Given the description of an element on the screen output the (x, y) to click on. 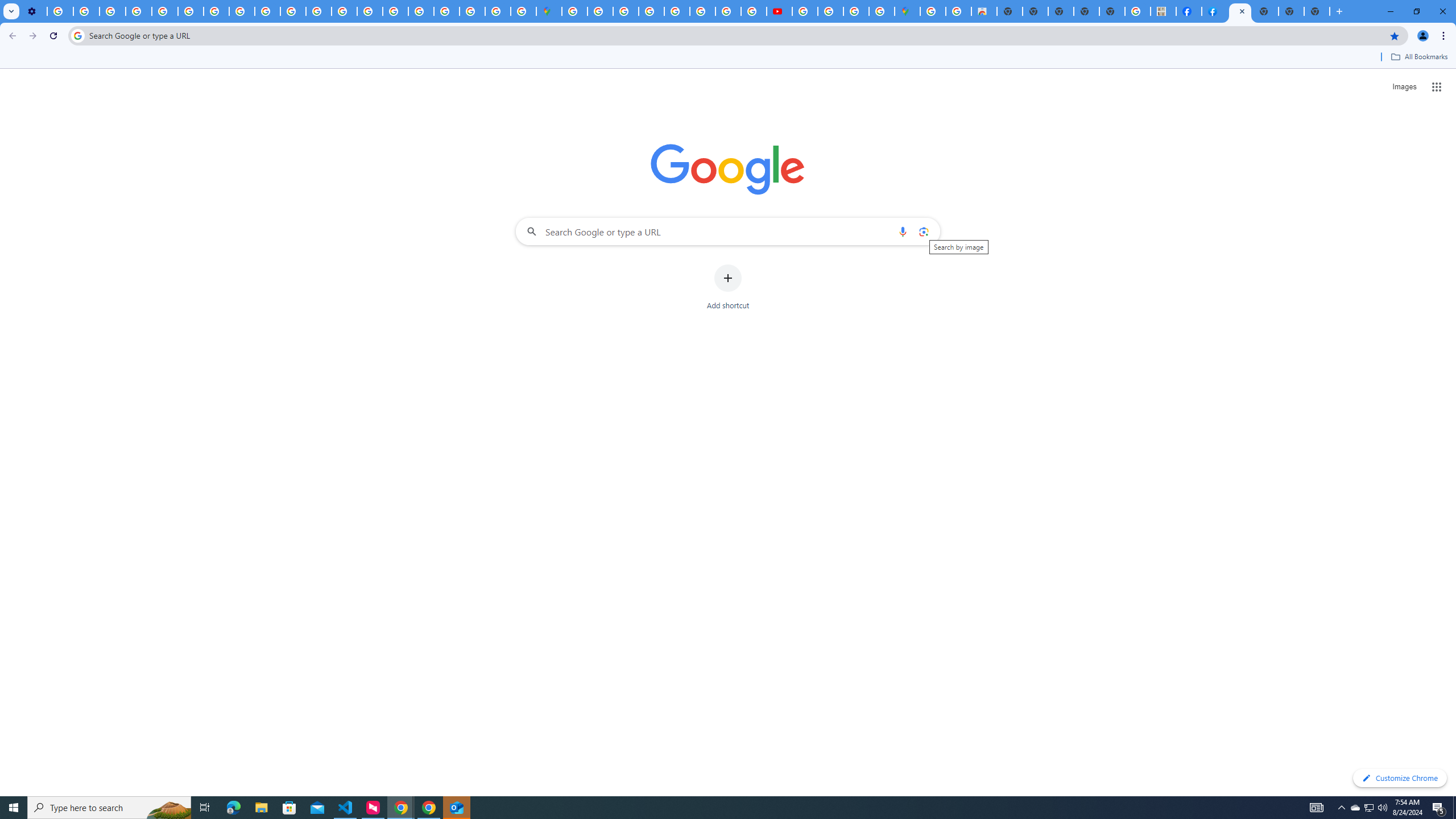
Sign in - Google Accounts (574, 11)
Miley Cyrus | Facebook (1188, 11)
Learn how to find your photos - Google Photos Help (86, 11)
New Tab (1316, 11)
Privacy Help Center - Policies Help (344, 11)
Search Google or type a URL (727, 230)
